Given the description of an element on the screen output the (x, y) to click on. 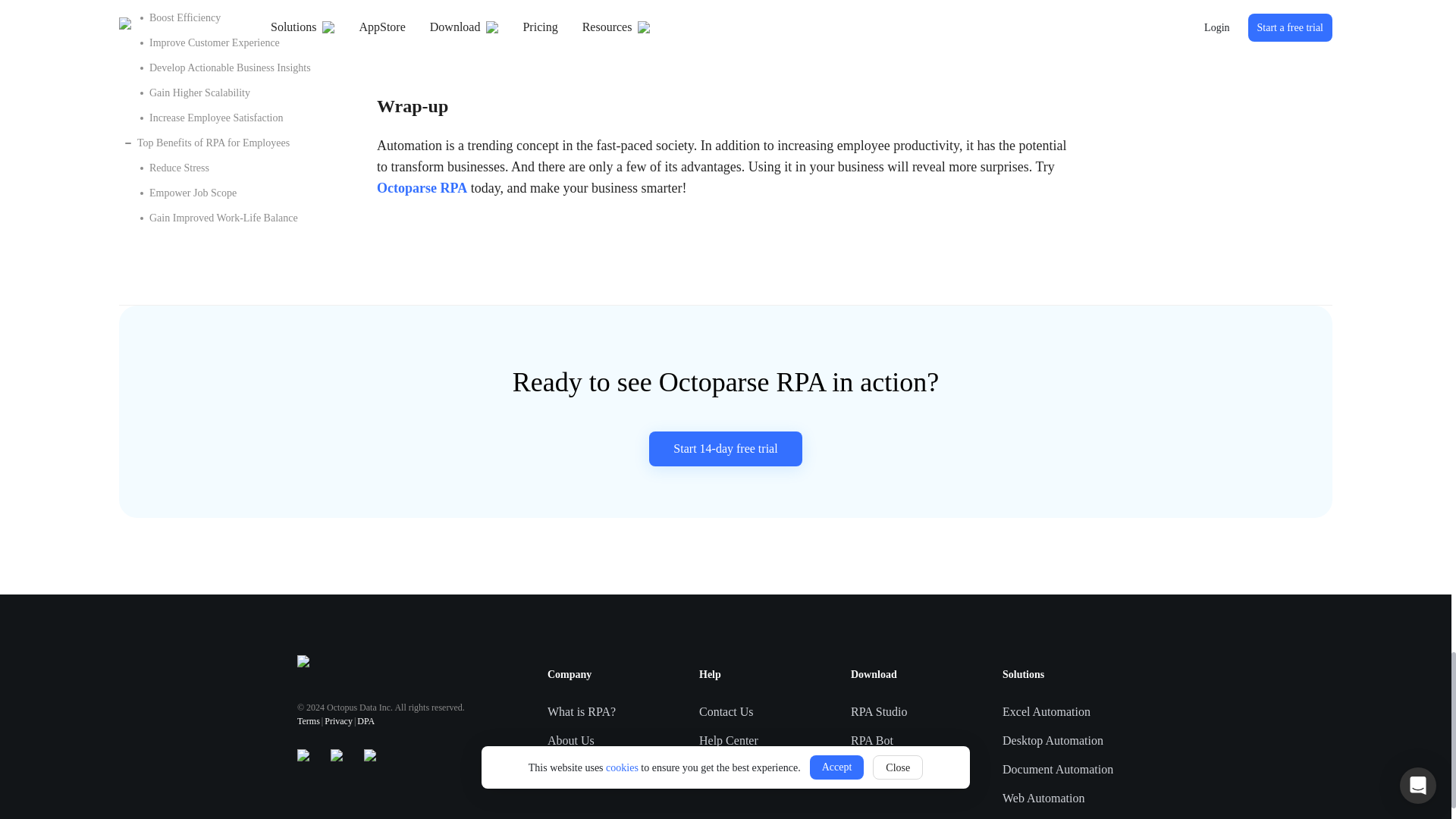
Start 14-day free trial (725, 448)
What is RPA? (581, 710)
Privacy (338, 719)
Terms (308, 719)
DPA (365, 719)
Octoparse RPA (423, 186)
About Us (570, 739)
